Given the description of an element on the screen output the (x, y) to click on. 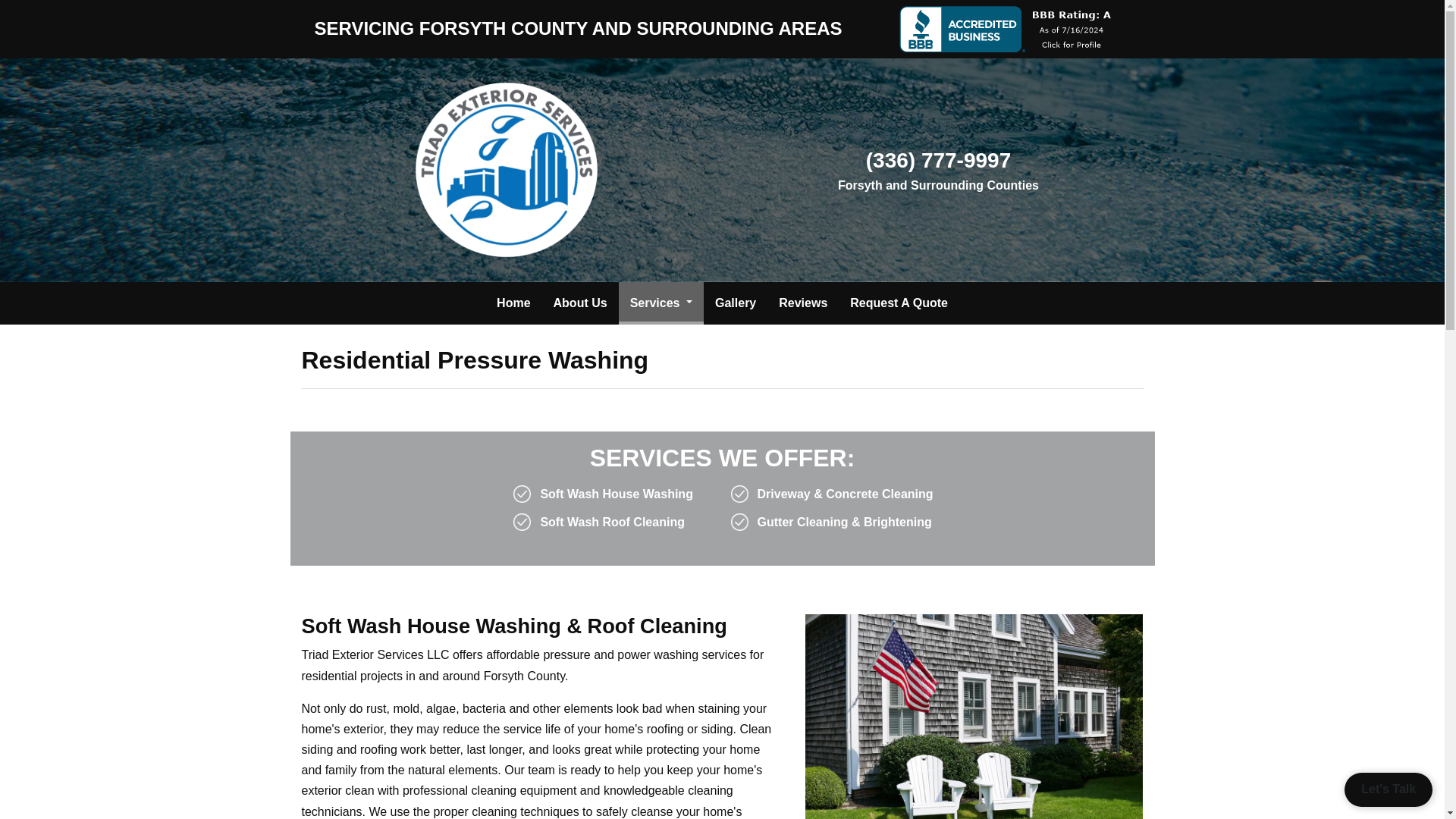
Request A Quote (898, 302)
Gallery (735, 302)
Services (660, 302)
Home (512, 302)
Reviews (802, 302)
About Us (579, 302)
